Given the description of an element on the screen output the (x, y) to click on. 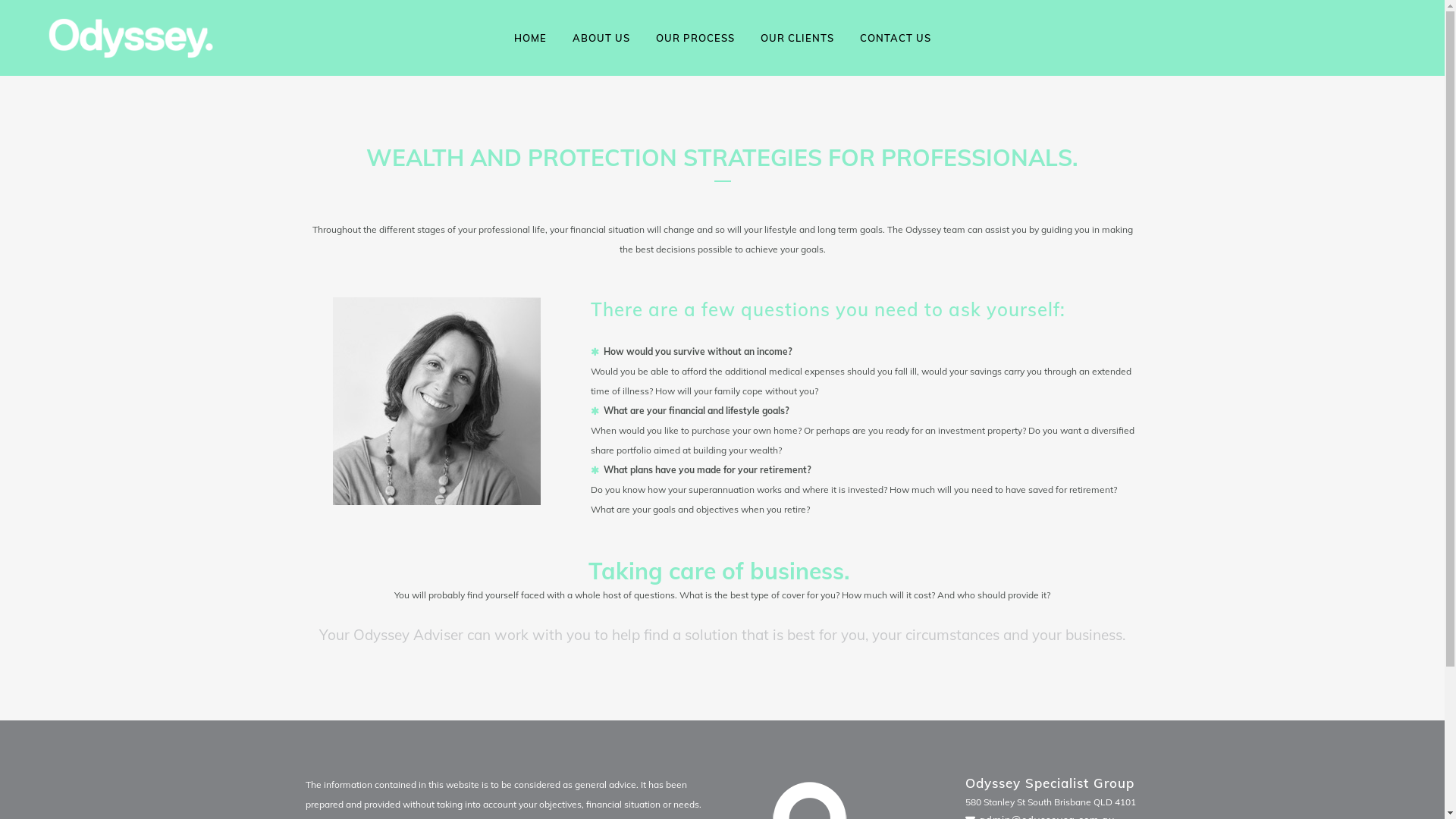
ABOUT US Element type: text (601, 37)
CONTACT US Element type: text (894, 37)
OUR PROCESS Element type: text (695, 37)
HOME Element type: text (529, 37)
OUR CLIENTS Element type: text (797, 37)
